Given the description of an element on the screen output the (x, y) to click on. 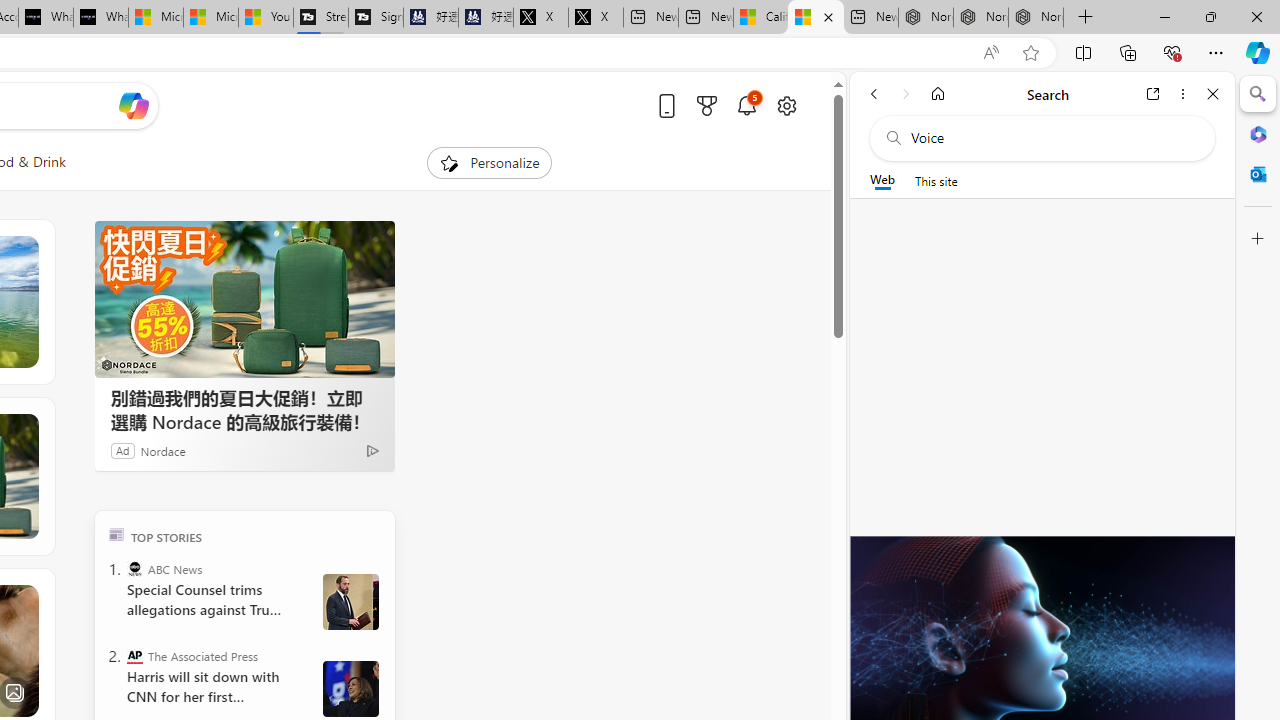
Streaming Coverage | T3 (321, 17)
Outlook (1258, 174)
ABC News (134, 568)
